Given the description of an element on the screen output the (x, y) to click on. 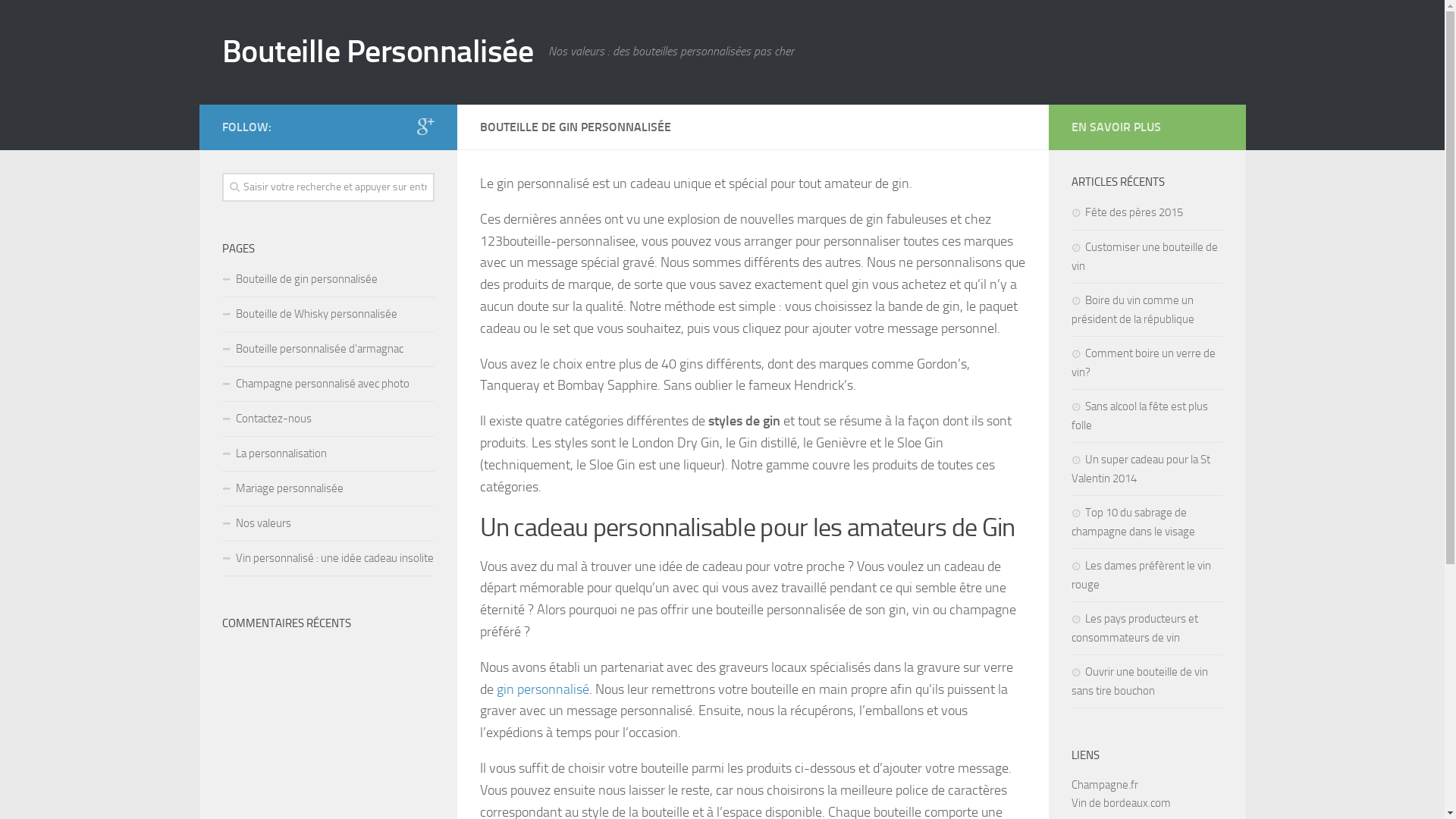
Champagne.fr Element type: text (1103, 784)
Contactez-nous Element type: text (327, 418)
Vin de bordeaux.com Element type: text (1120, 802)
Ouvrir une bouteille de vin sans tire bouchon Element type: text (1138, 681)
Top 10 du sabrage de champagne dans le visage Element type: text (1132, 521)
Customiser une bouteille de vin Element type: text (1143, 256)
Un super cadeau pour la St Valentin 2014 Element type: text (1139, 468)
Nos valeurs Element type: text (327, 523)
La personnalisation Element type: text (327, 453)
Google+ Element type: hover (424, 126)
Comment boire un verre de vin? Element type: text (1142, 362)
Les pays producteurs et consommateurs de vin Element type: text (1133, 627)
